Given the description of an element on the screen output the (x, y) to click on. 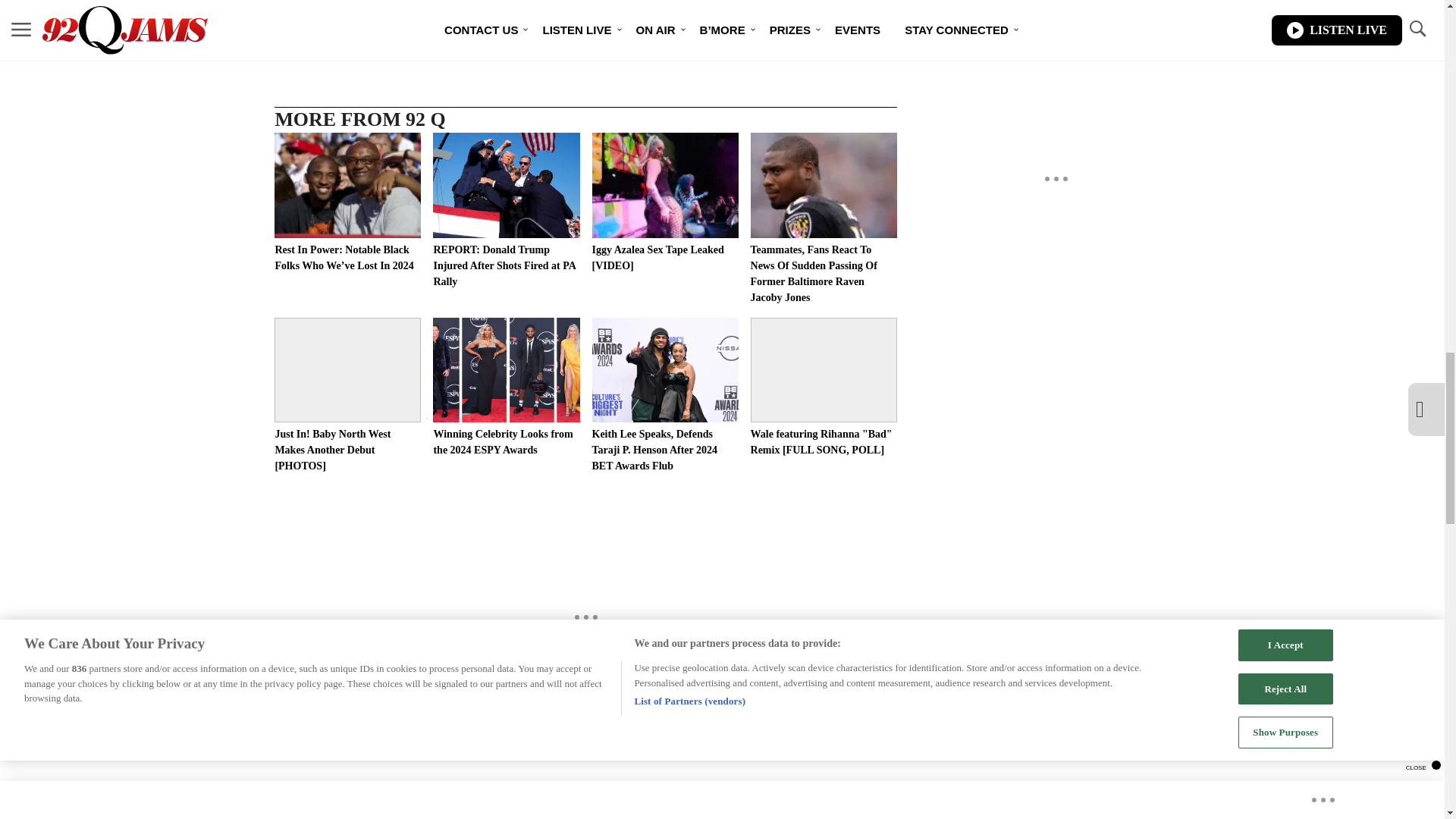
Vuukle Comments Widget (585, 789)
Vuukle Sharebar Widget (585, 12)
